Given the description of an element on the screen output the (x, y) to click on. 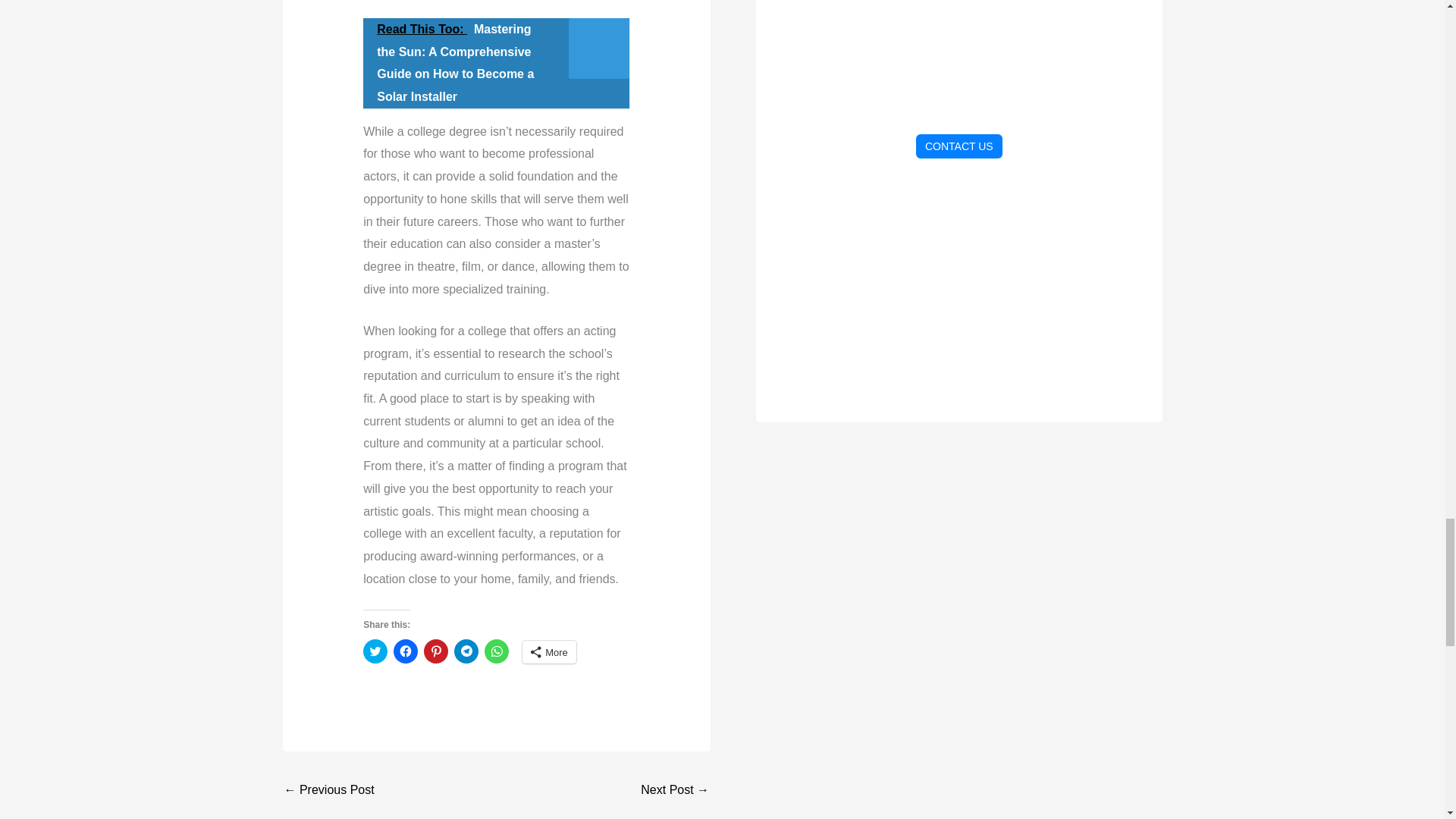
Click to share on WhatsApp (496, 651)
Click to share on Telegram (466, 651)
Click to share on Facebook (405, 651)
Click to share on Pinterest (435, 651)
Click to share on Twitter (374, 651)
